Given the description of an element on the screen output the (x, y) to click on. 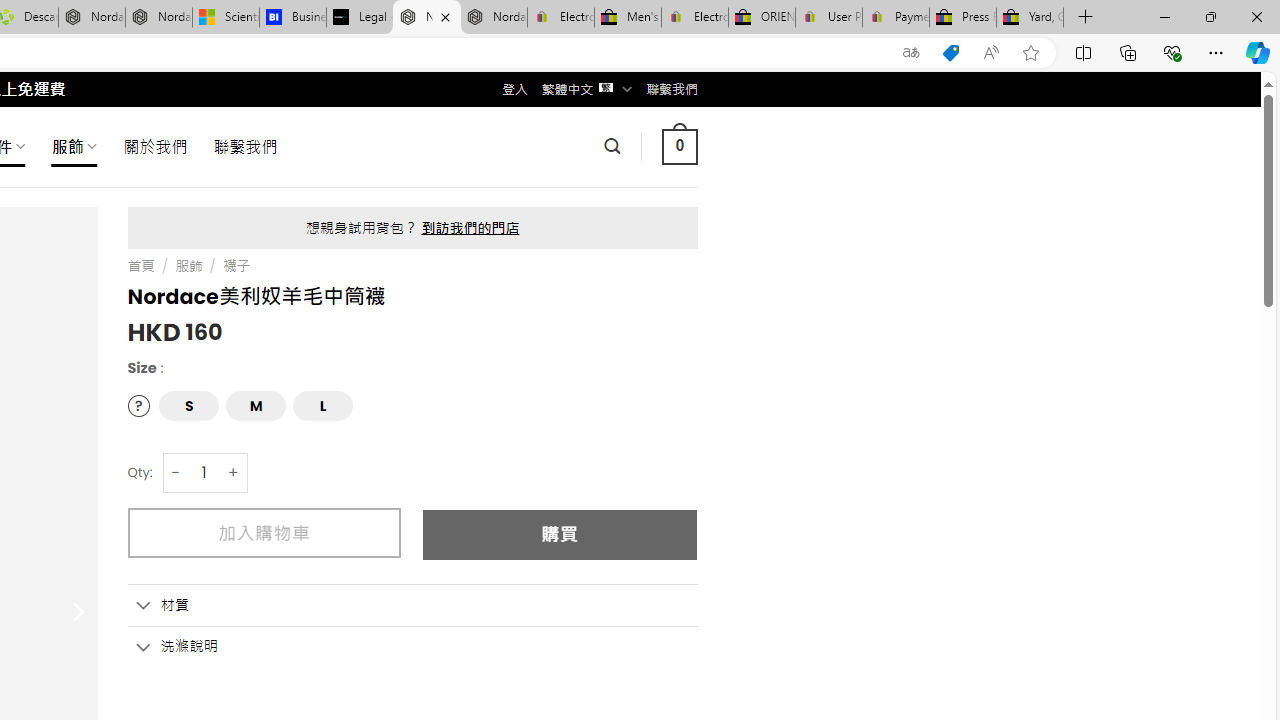
This site has coupons! Shopping in Microsoft Edge (950, 53)
Show translate options (910, 53)
Payments Terms of Use | eBay.com (895, 17)
